Given the description of an element on the screen output the (x, y) to click on. 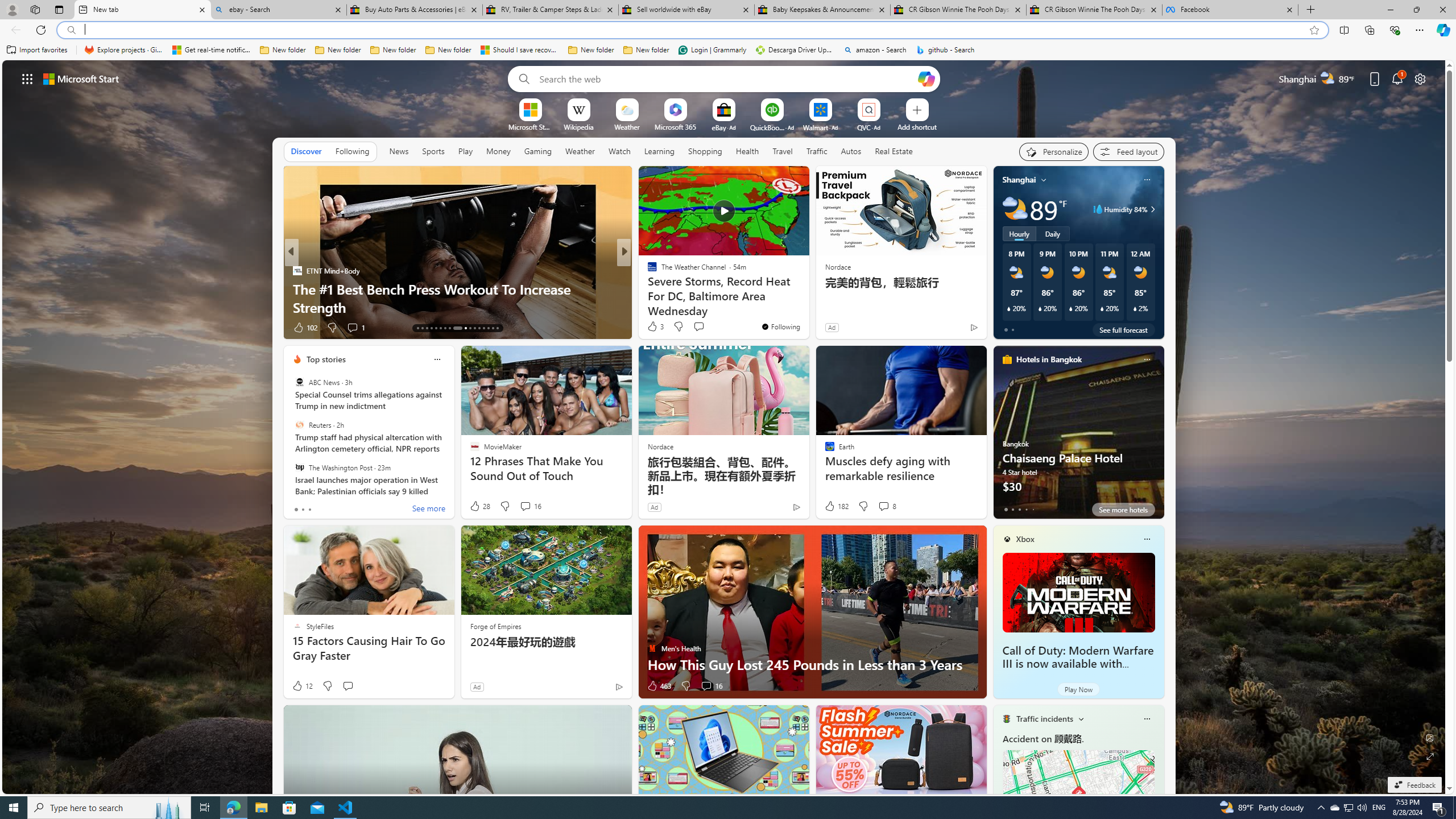
Verywell Mind (647, 288)
My location (1043, 179)
TheStreet (647, 288)
32 Like (652, 327)
Hotels in Bangkok (1048, 359)
Traffic incidents (1044, 718)
